Given the description of an element on the screen output the (x, y) to click on. 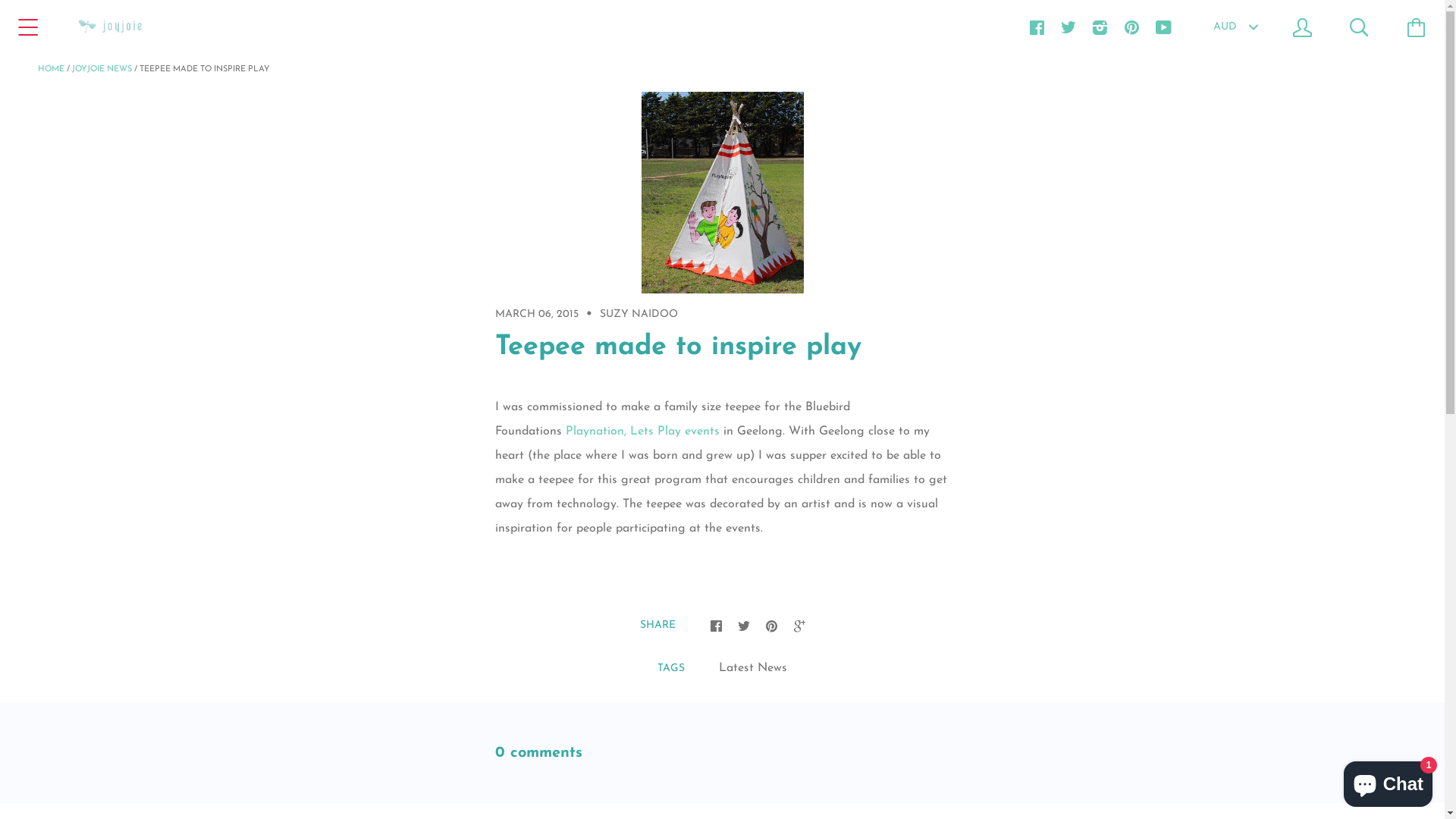
Facebook Element type: hover (715, 624)
Twitter Element type: hover (743, 624)
YouTube Element type: hover (1163, 26)
Shopify online store chat Element type: hover (1388, 780)
Pinterest Element type: hover (770, 624)
JOYJOIE NEWS Element type: text (101, 69)
Facebook Element type: hover (1036, 26)
Google+ Element type: hover (799, 624)
Instagram Element type: hover (1099, 26)
Pinterest Element type: hover (1131, 26)
Latest News Element type: text (752, 668)
Twitter Element type: hover (1067, 26)
HOME Element type: text (50, 69)
Playnation, Lets Play events Element type: text (642, 431)
